Given the description of an element on the screen output the (x, y) to click on. 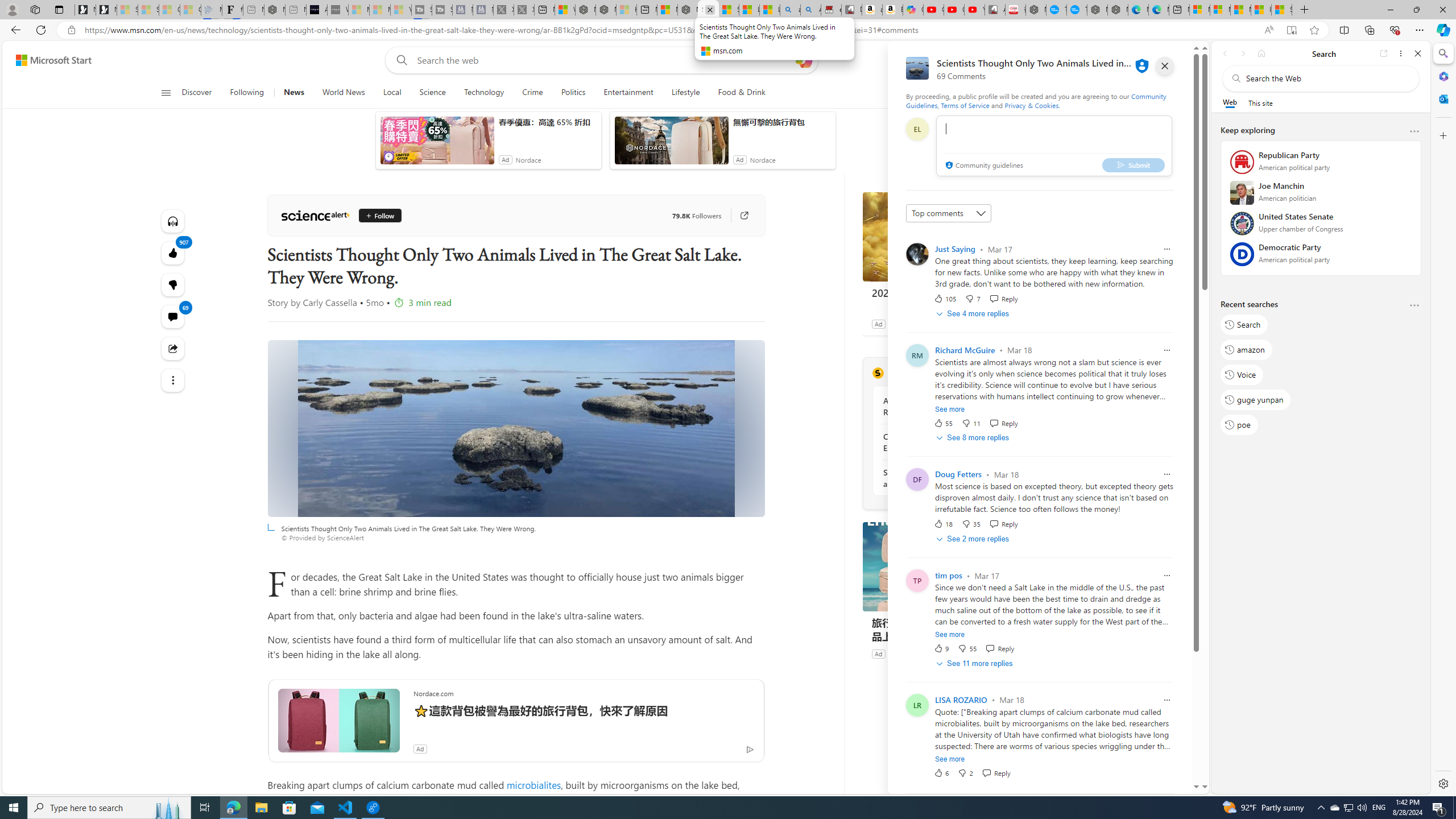
Search the web (1326, 78)
The most popular Google 'how to' searches (1076, 9)
Microsoft account | Privacy (1219, 9)
Nordace - Nordace Siena Is Not An Ordinary Backpack (687, 9)
ScienceAlert (877, 372)
Share this story (172, 348)
Restore (1416, 9)
View site information (70, 29)
Newsletter Sign Up (106, 9)
Gloom - YouTube (954, 9)
Share this story (172, 348)
105 Like (944, 298)
Science (432, 92)
